Given the description of an element on the screen output the (x, y) to click on. 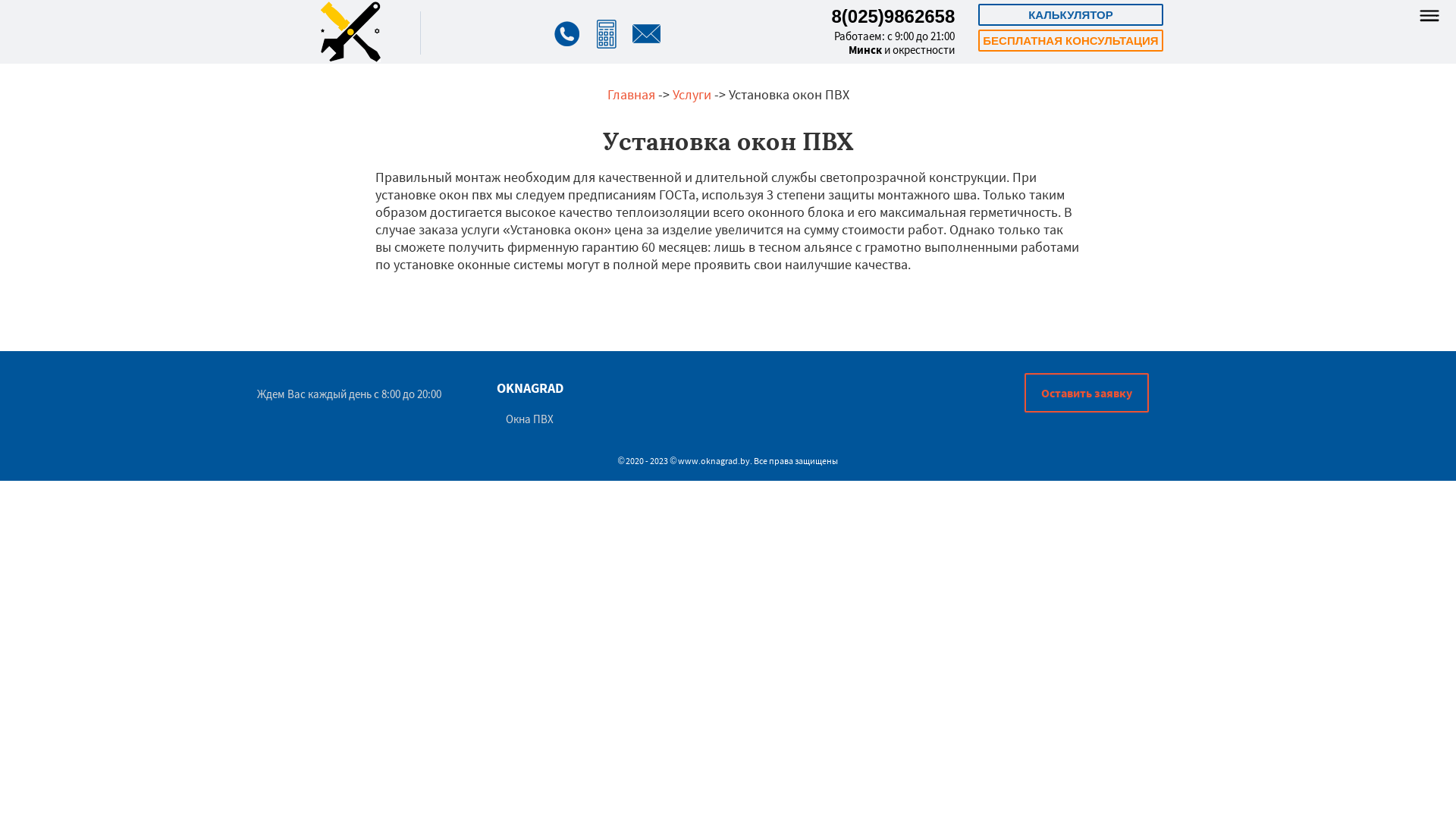
8(025)9862658 Element type: text (892, 16)
